Given the description of an element on the screen output the (x, y) to click on. 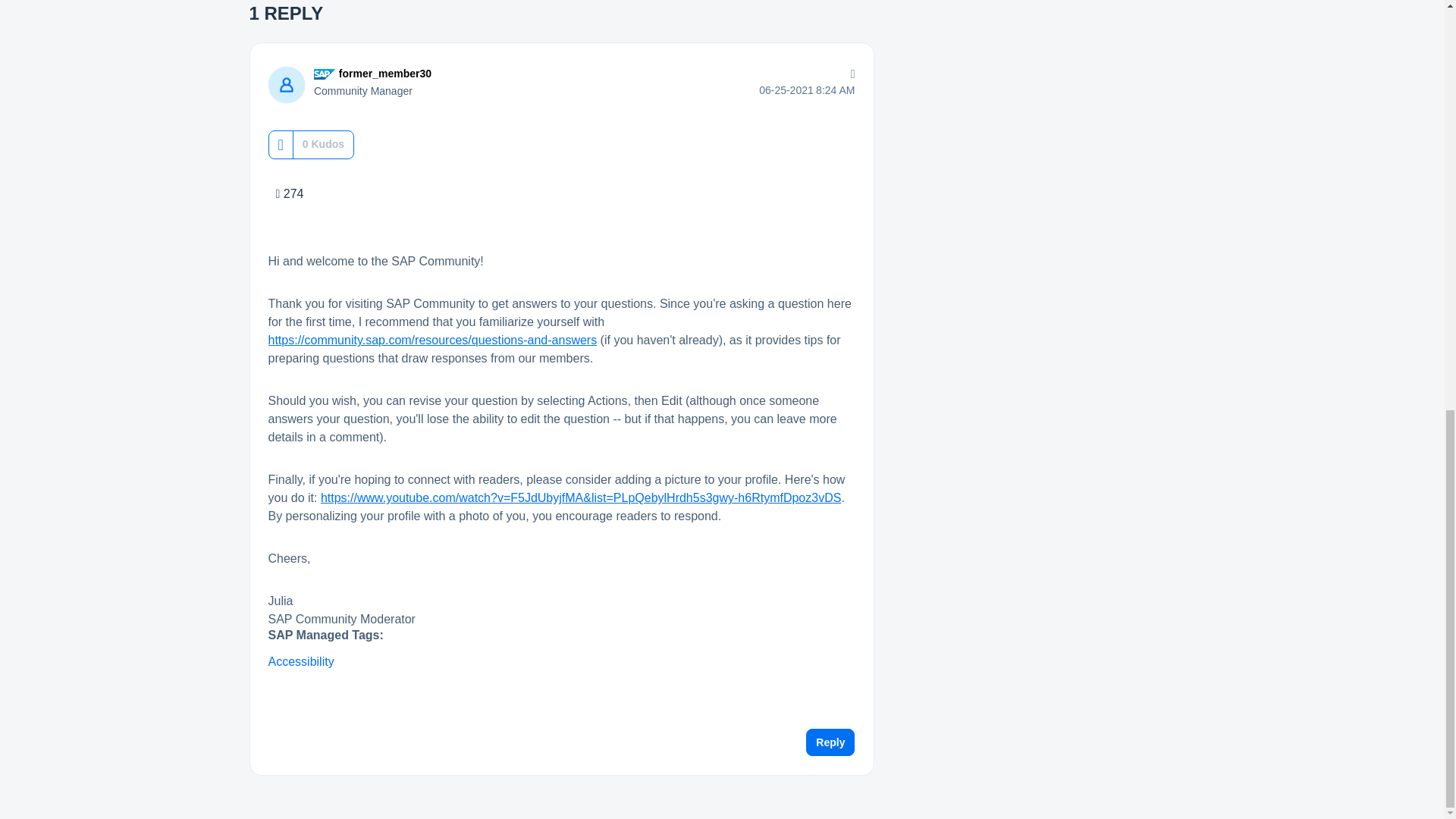
Options (850, 74)
